Given the description of an element on the screen output the (x, y) to click on. 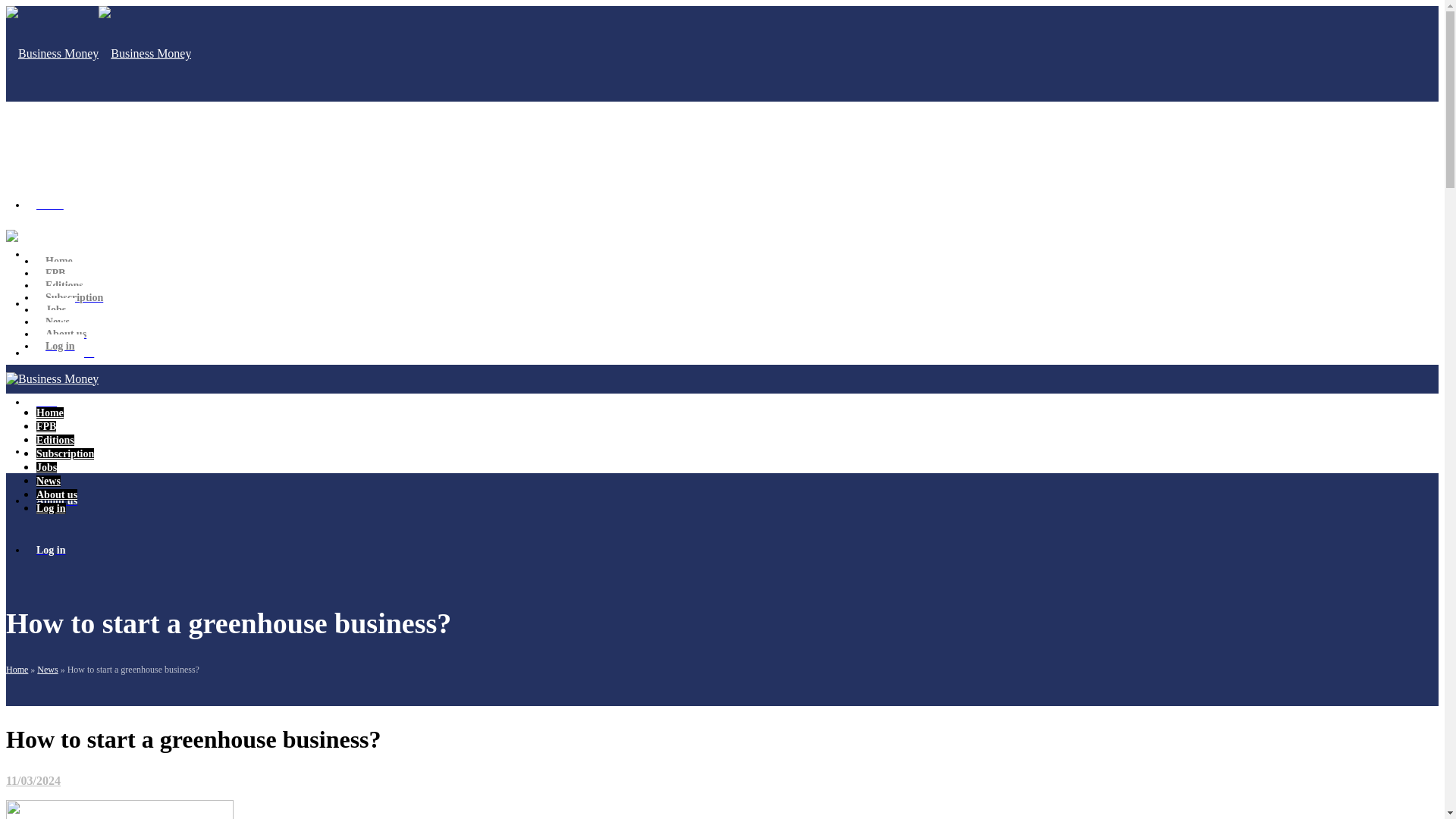
News (57, 321)
Editions (54, 303)
Subscription (65, 352)
Subscription (65, 453)
Jobs (46, 402)
My account (32, 184)
Facebook (58, 217)
Editions (64, 285)
Business Money (52, 236)
Log in (60, 345)
Log in (51, 549)
Jobs (55, 309)
News (47, 669)
Facebook (58, 217)
Contact us (81, 132)
